Given the description of an element on the screen output the (x, y) to click on. 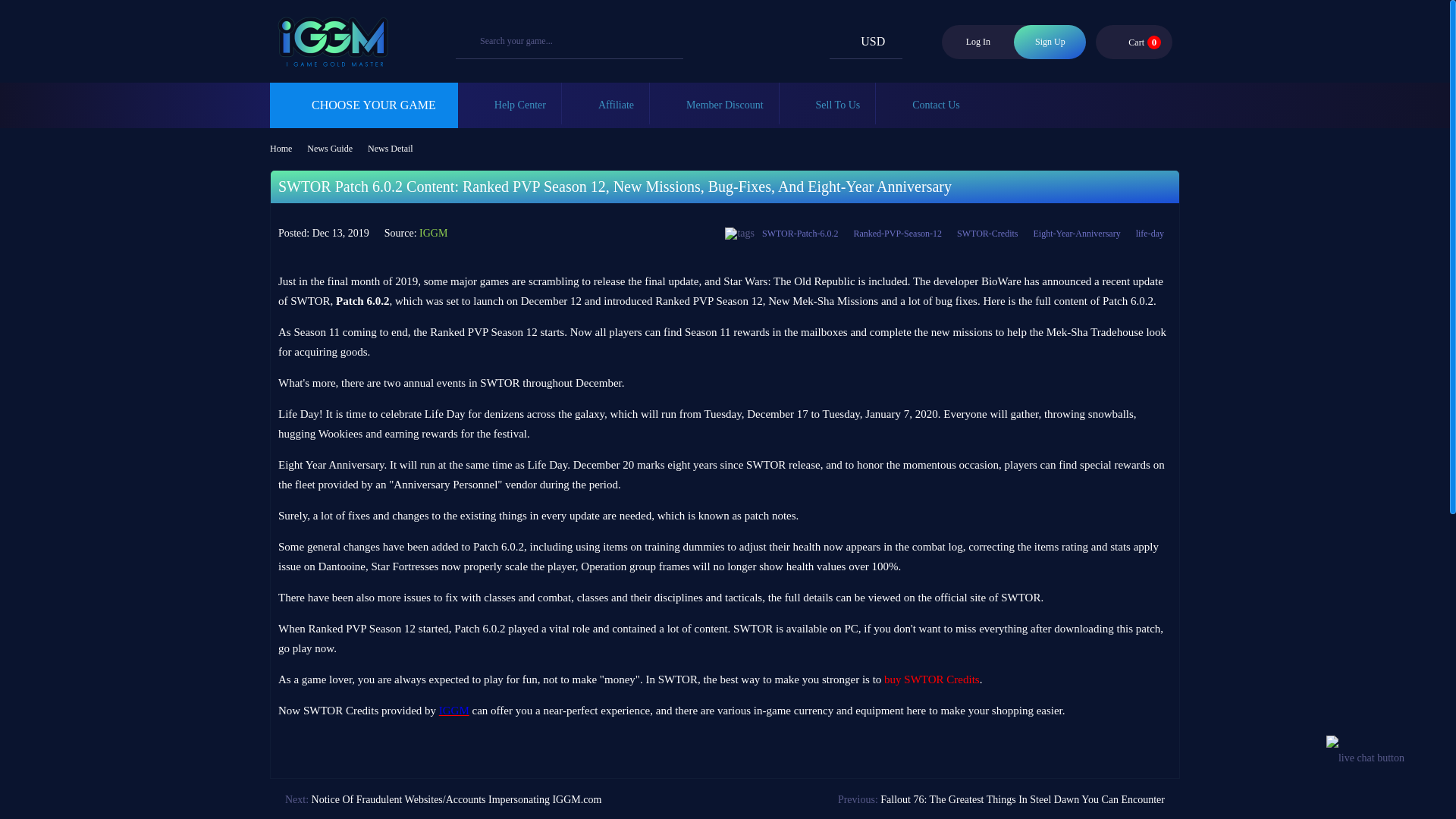
SWTOR-Credits (987, 233)
IGGM: Best Market For trading In-MMORPG gold, Items services (453, 710)
Buy SWTOR Credits, Star Wars the Old Republic Credits - IGGM (931, 679)
Log In (977, 41)
life-day (1150, 233)
IGGM (328, 60)
Ranked-PVP-Season-12 (897, 233)
Sign Up (1134, 41)
SWTOR-Patch-6.0.2 (1049, 41)
